Given the description of an element on the screen output the (x, y) to click on. 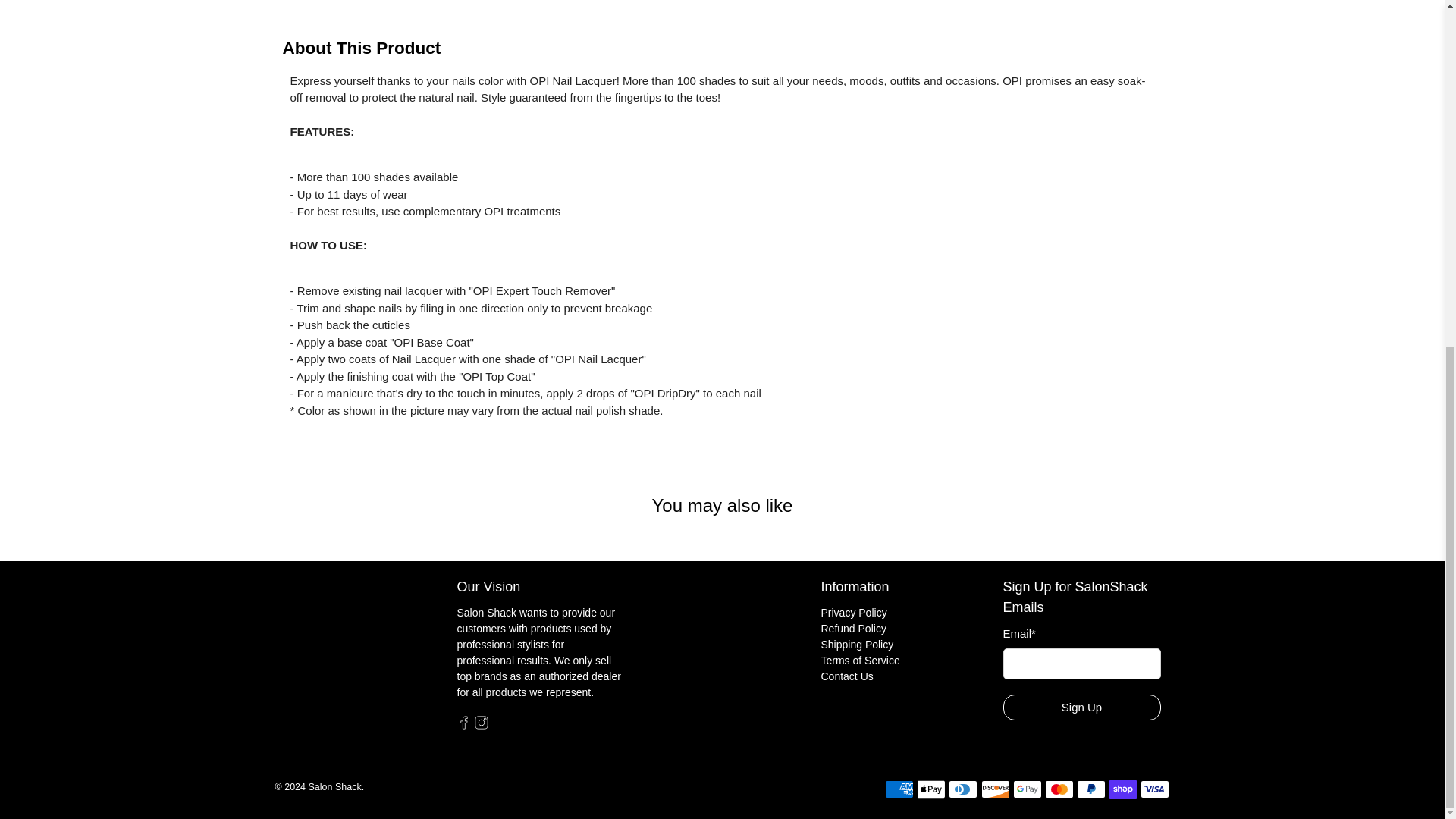
PayPal (1091, 789)
Apple Pay (930, 789)
Google Pay (1027, 789)
Mastercard (1059, 789)
Salon Shack on Facebook (463, 725)
Shop Pay (1122, 789)
American Express (899, 789)
Visa (1154, 789)
Salon Shack on Instagram (480, 725)
Diners Club (962, 789)
